Given the description of an element on the screen output the (x, y) to click on. 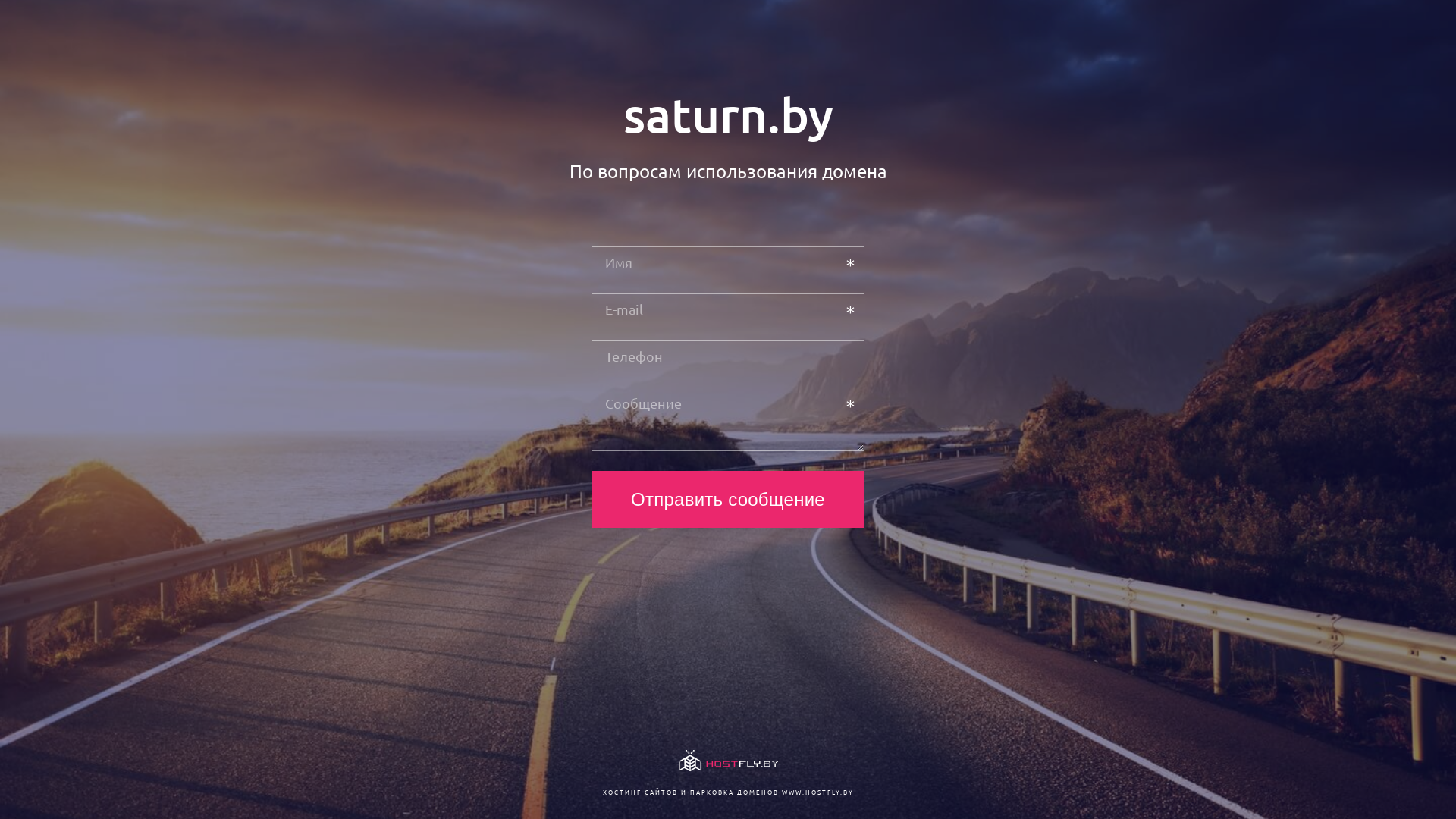
WWW.HOSTFLY.BY Element type: text (817, 791)
